Given the description of an element on the screen output the (x, y) to click on. 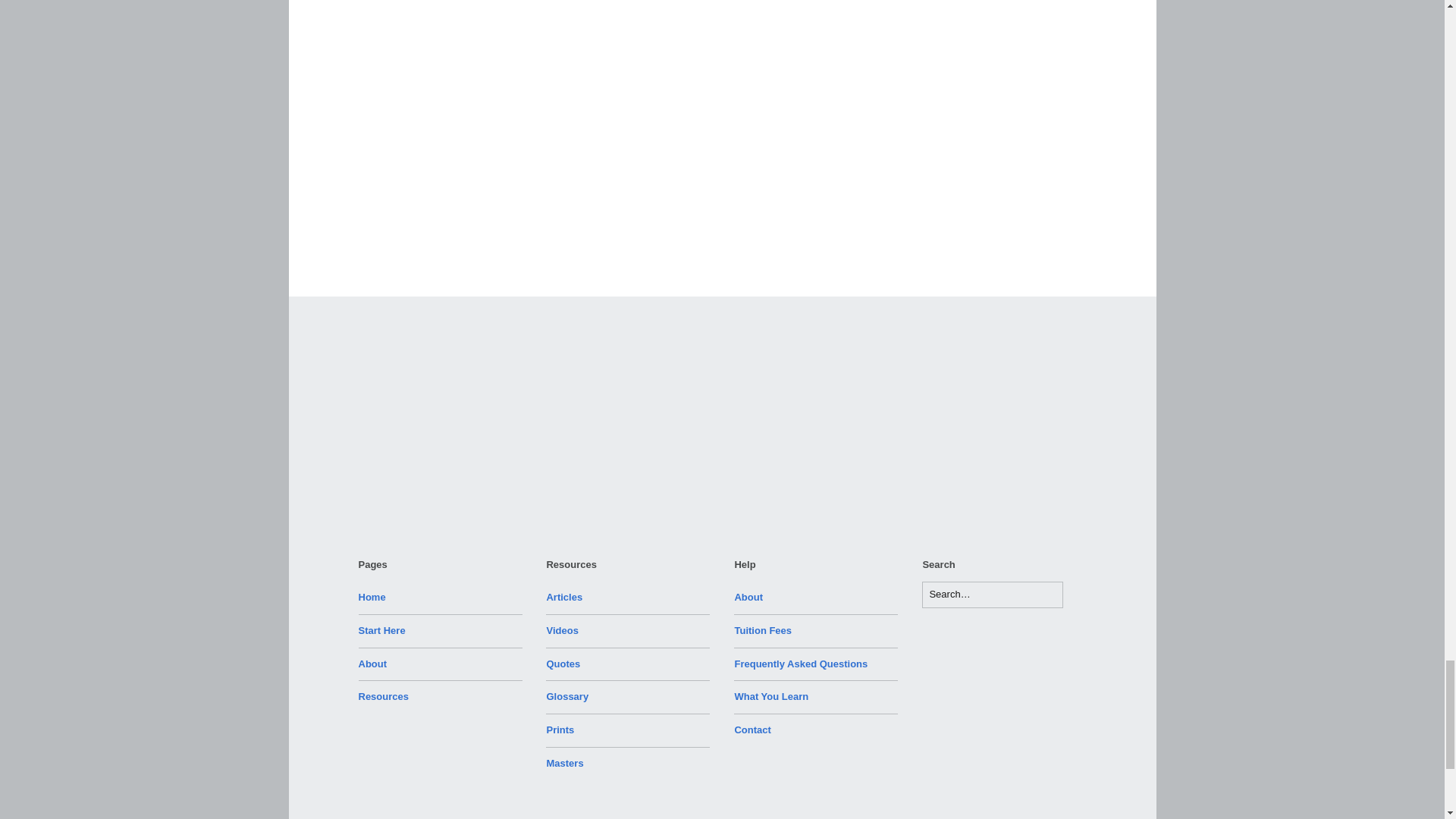
Photography Videos (562, 630)
Photography Quotes (562, 663)
Photography Prints (559, 729)
Photography Glossary (567, 696)
Photography Articles (564, 596)
